Given the description of an element on the screen output the (x, y) to click on. 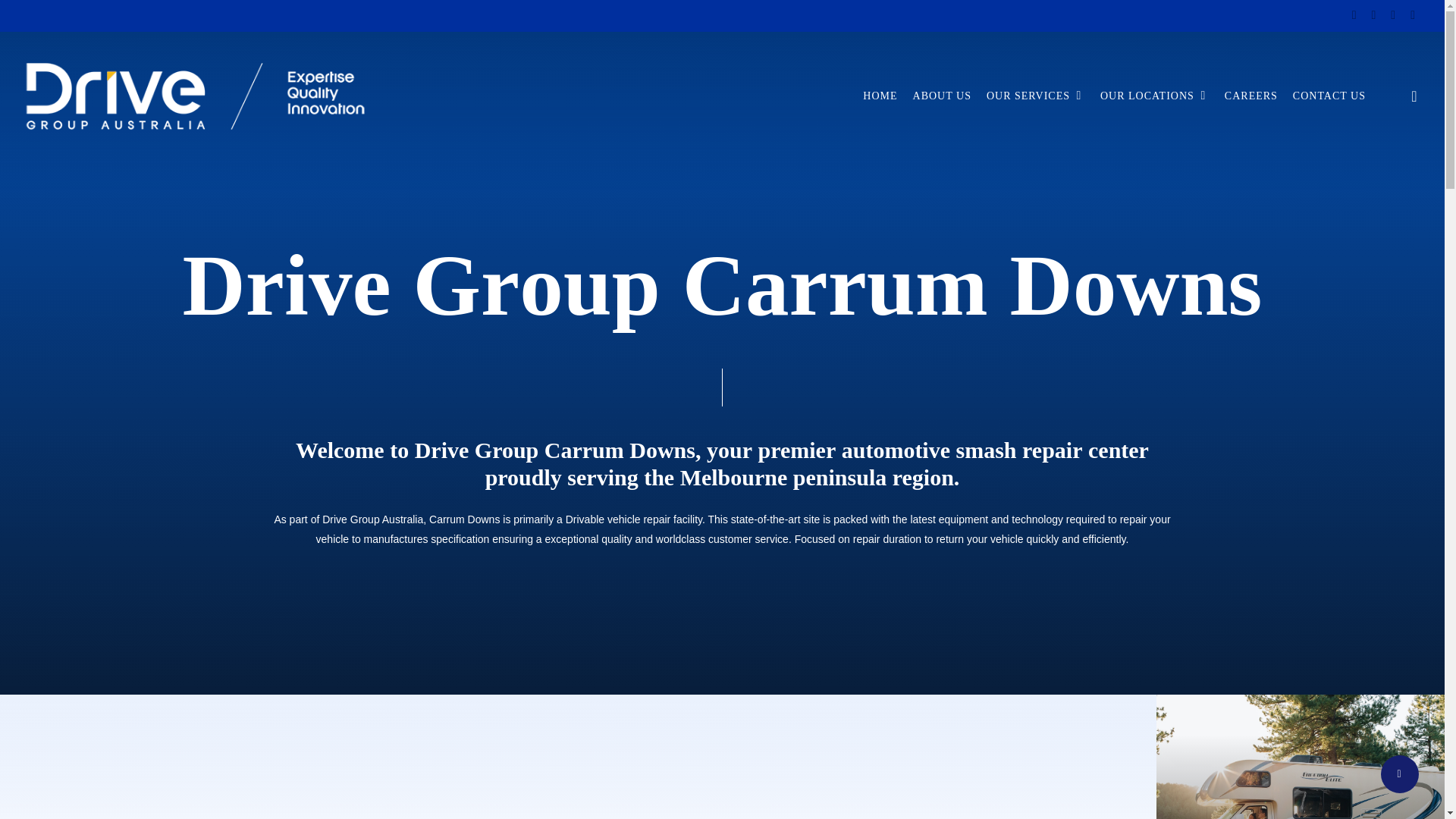
CONTACT US (1328, 96)
OUR LOCATIONS (1154, 96)
search (1414, 95)
CAREERS (1251, 96)
OUR SERVICES (1035, 96)
ABOUT US (941, 96)
HOME (879, 96)
